Given the description of an element on the screen output the (x, y) to click on. 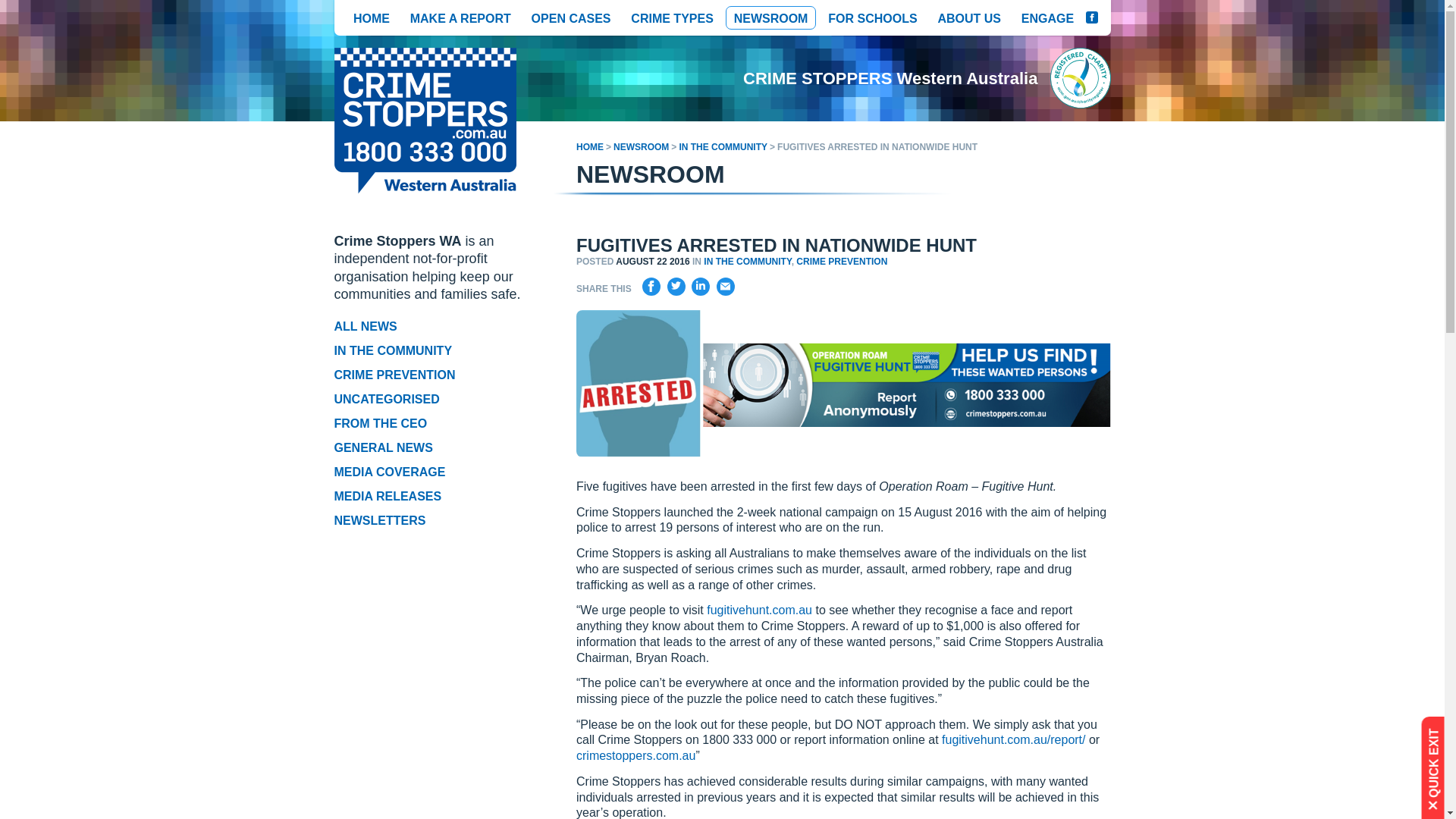
Go to Crime Stoppers Western Australia. (590, 146)
OPEN CASES (571, 17)
Go to the In the Community category archives. (722, 146)
HOME (371, 17)
CRIME TYPES (671, 17)
Go to Newsroom. (640, 146)
MAKE A REPORT (460, 17)
